Given the description of an element on the screen output the (x, y) to click on. 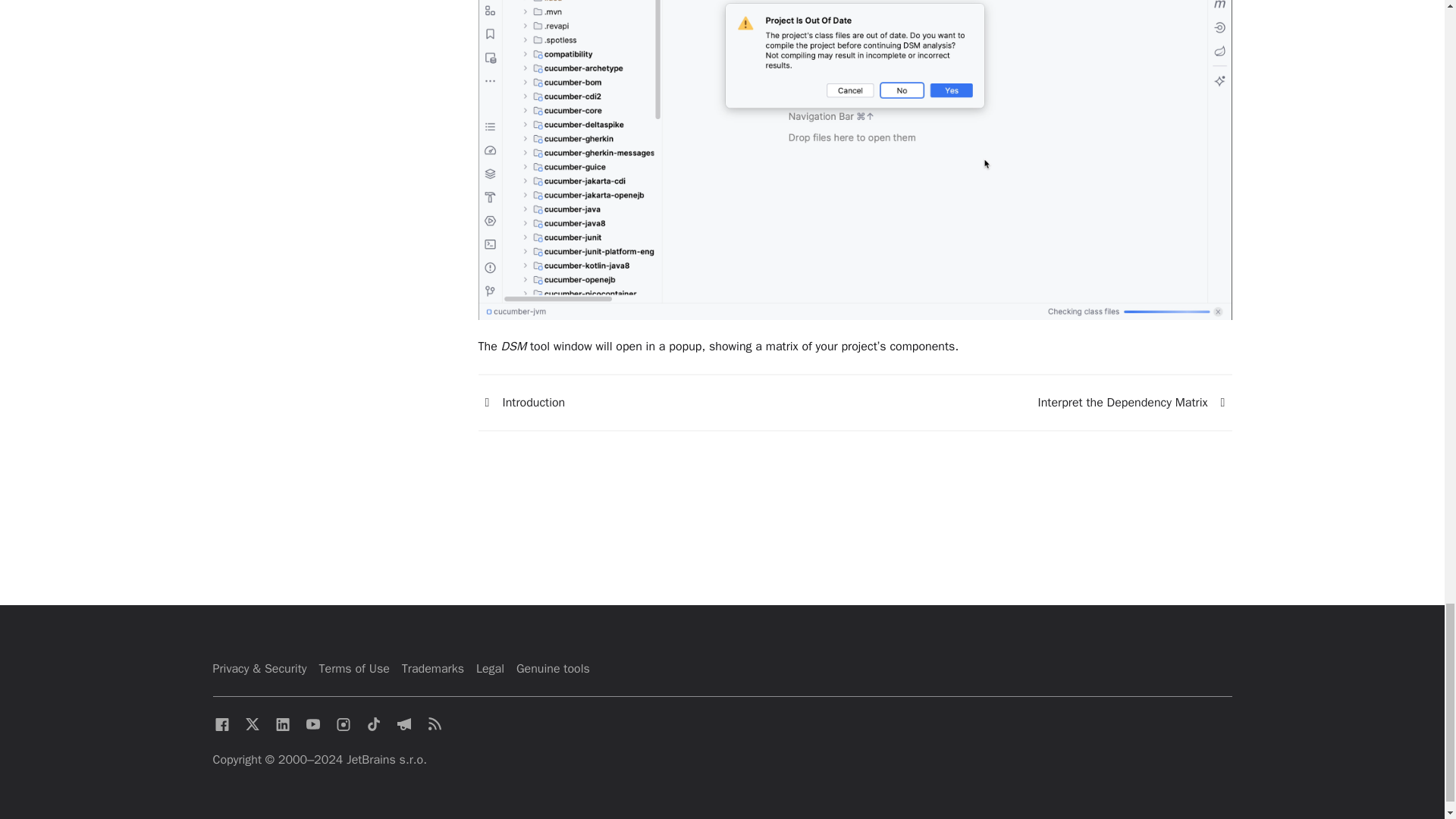
Introduction (520, 402)
Interpret the Dependency Matrix (1221, 402)
Introduction (486, 402)
